Given the description of an element on the screen output the (x, y) to click on. 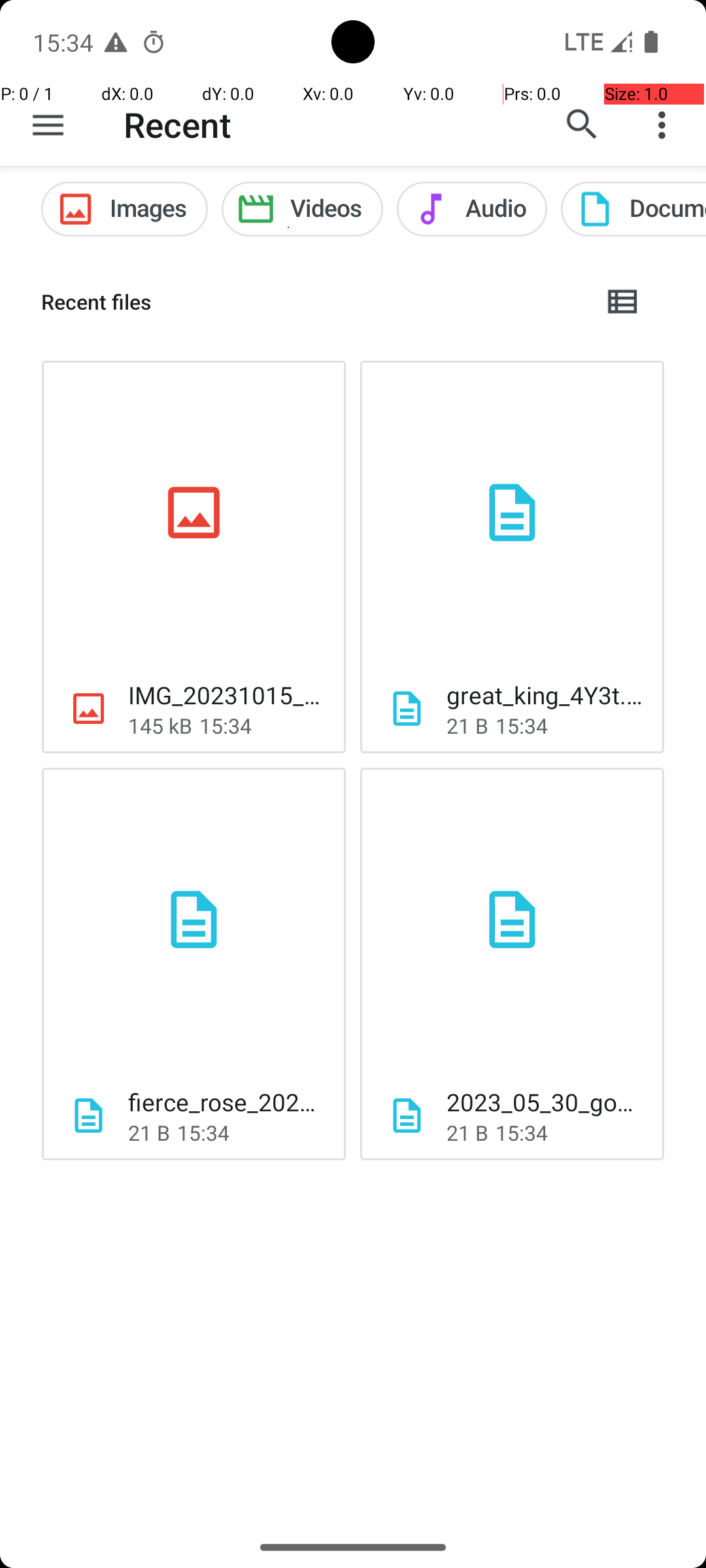
Recent files Element type: android.widget.TextView (311, 301)
IMG_20231015_153414.jpg Element type: android.widget.TextView (226, 694)
145 kB Element type: android.widget.TextView (160, 725)
great_king_4Y3t.md Element type: android.widget.TextView (544, 694)
21 B Element type: android.widget.TextView (467, 725)
fierce_rose_2023_06_21.md Element type: android.widget.TextView (226, 1101)
2023_05_30_good_jacket.txt Element type: android.widget.TextView (544, 1101)
